Given the description of an element on the screen output the (x, y) to click on. 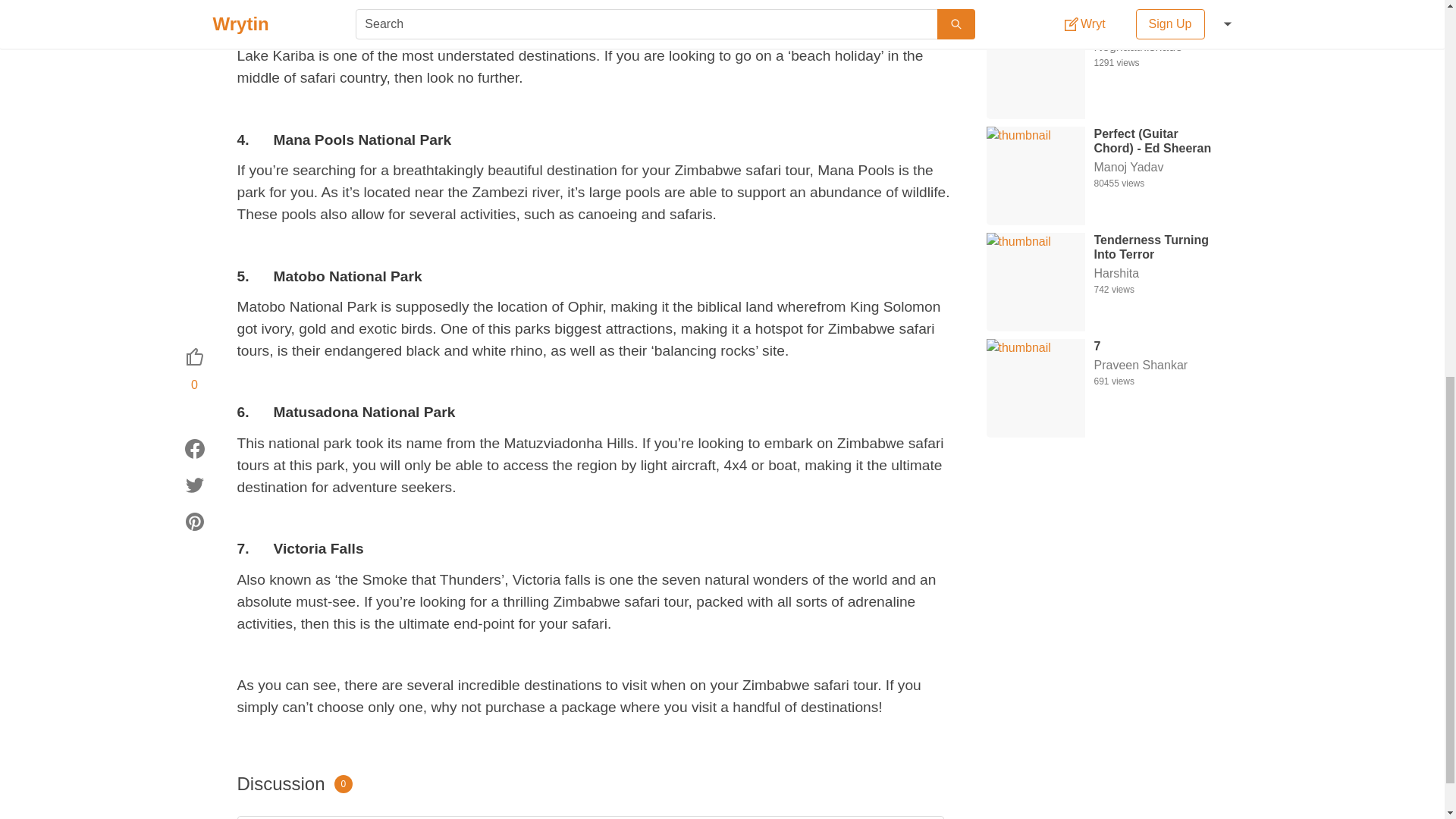
Neghaathishade (1152, 17)
Strings (1152, 2)
Strings (1152, 2)
Neghaathishade  (1152, 17)
